Given the description of an element on the screen output the (x, y) to click on. 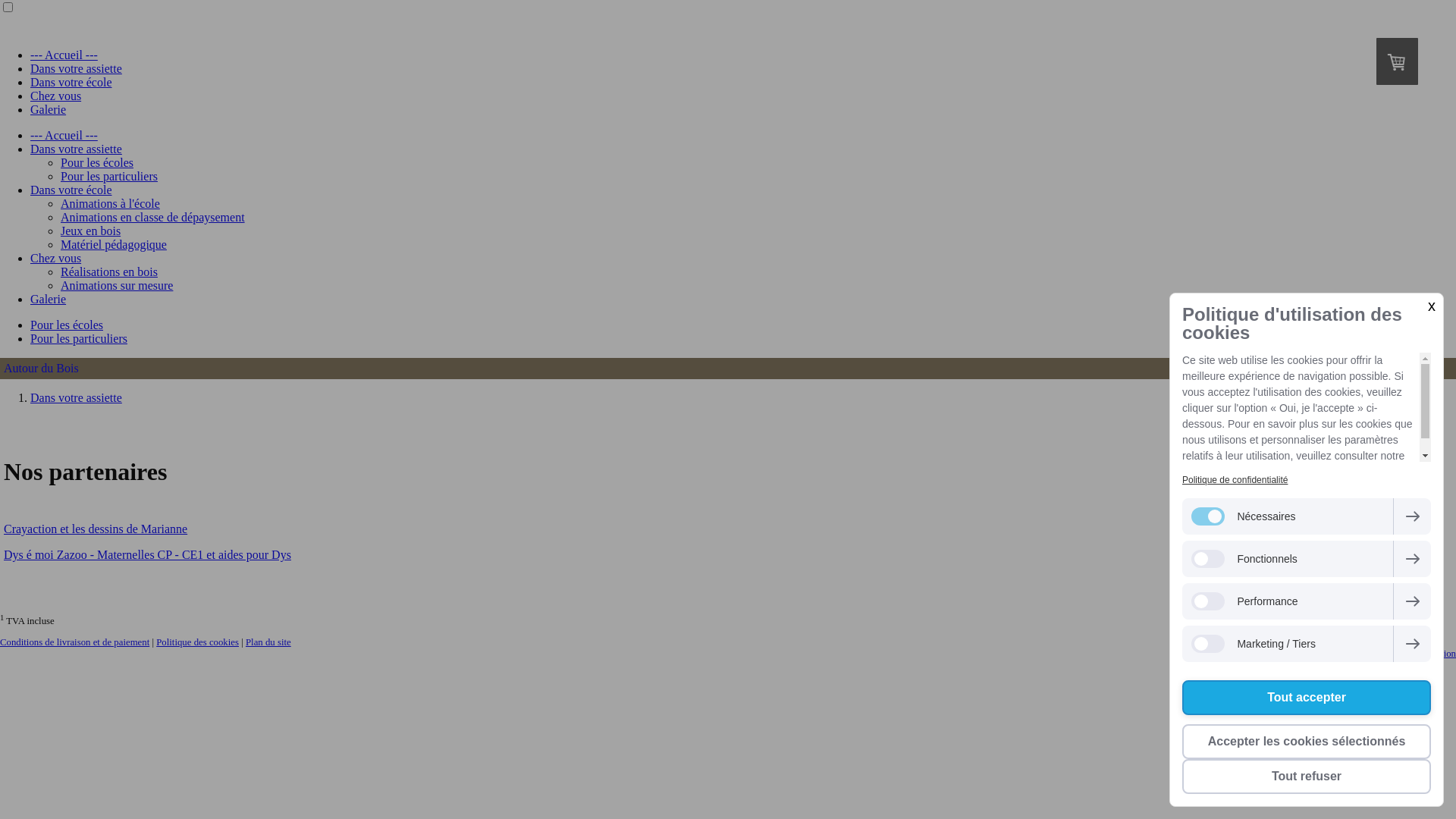
Politique des cookies Element type: text (197, 642)
Jeux en bois Element type: text (90, 230)
Chez vous Element type: text (55, 95)
Dans votre assiette Element type: text (76, 68)
Galerie Element type: text (47, 109)
Chez vous Element type: text (55, 257)
Autour du Bois Element type: text (727, 368)
Crayaction et les dessins de Marianne Element type: text (95, 528)
Tout refuser Element type: text (1306, 776)
Dans votre assiette Element type: text (76, 148)
Pour les particuliers Element type: text (108, 175)
Pour les particuliers Element type: text (78, 338)
--- Accueil --- Element type: text (63, 54)
Animations sur mesure Element type: text (116, 285)
Conditions de livraison et de paiement Element type: text (74, 642)
Dans votre assiette Element type: text (76, 397)
--- Accueil --- Element type: text (63, 134)
Tout accepter Element type: text (1306, 697)
Plan du site Element type: text (268, 642)
Galerie Element type: text (47, 298)
